Given the description of an element on the screen output the (x, y) to click on. 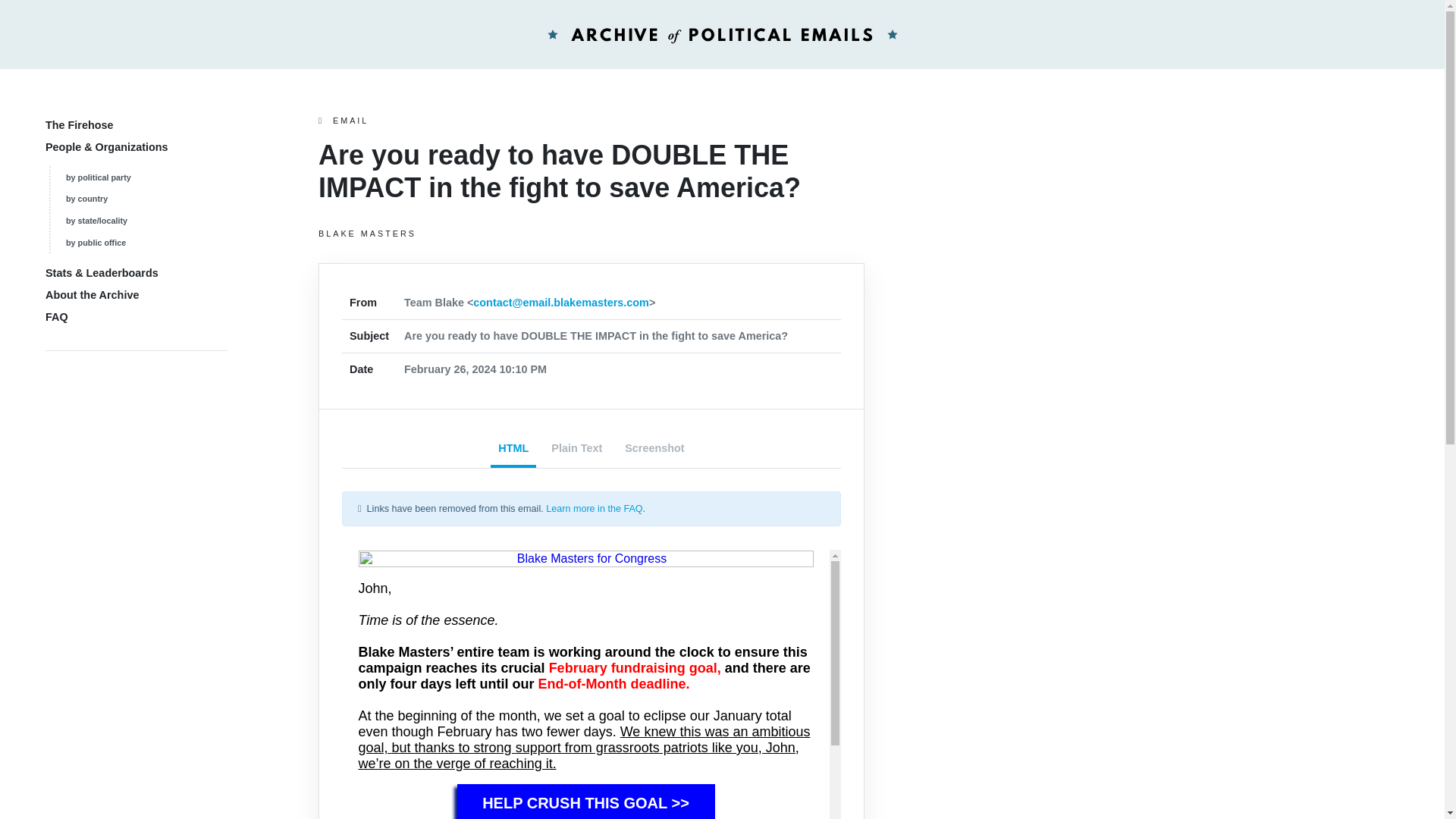
About the Archive (91, 295)
by country (86, 198)
by public office (95, 242)
FAQ (56, 316)
Learn more in the FAQ (594, 508)
Screenshot (654, 449)
BLAKE MASTERS (591, 233)
The Firehose (79, 124)
Plain Text (576, 449)
HTML (512, 449)
